Given the description of an element on the screen output the (x, y) to click on. 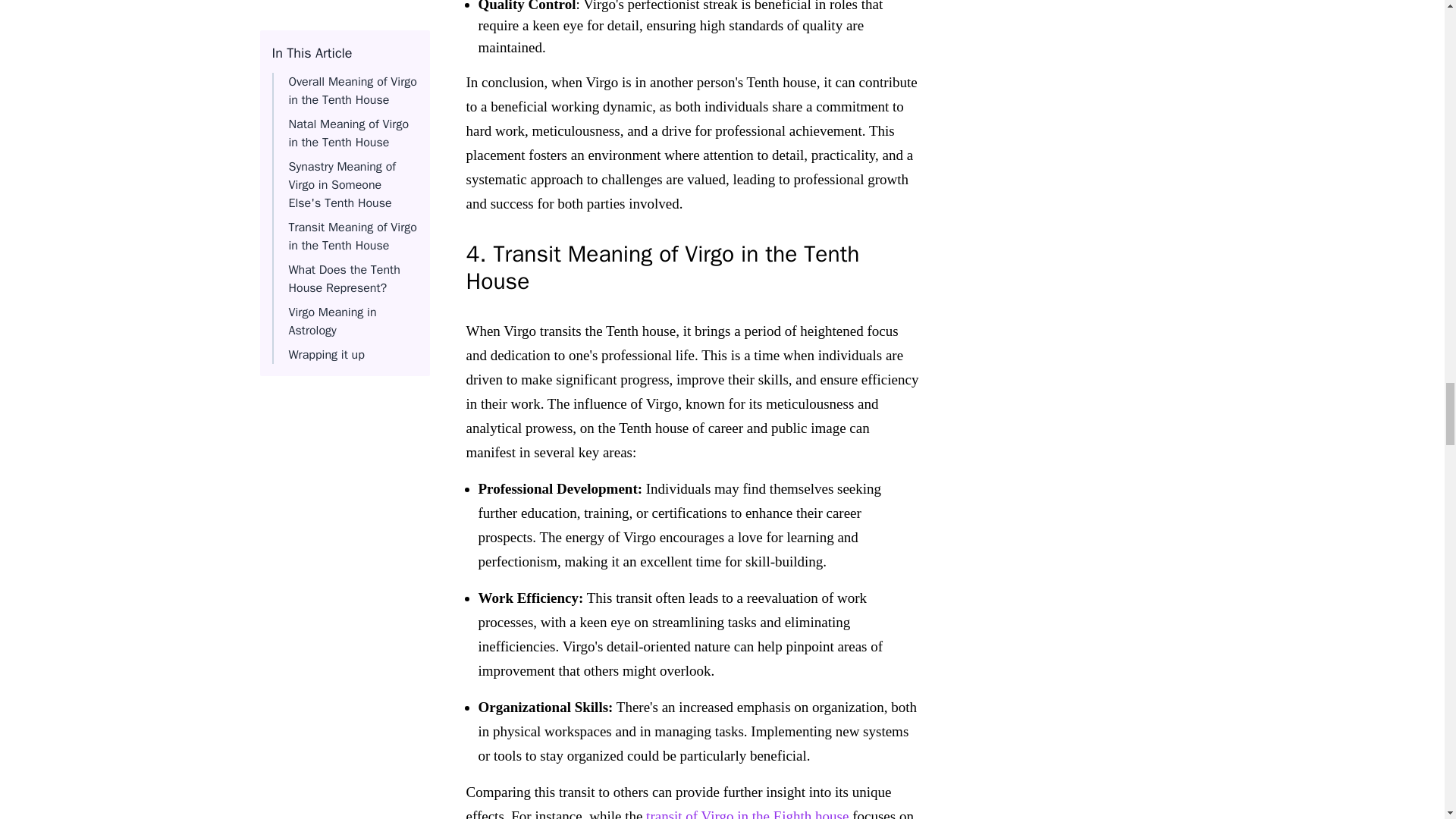
transit of Virgo in the Eighth house (747, 813)
